Given the description of an element on the screen output the (x, y) to click on. 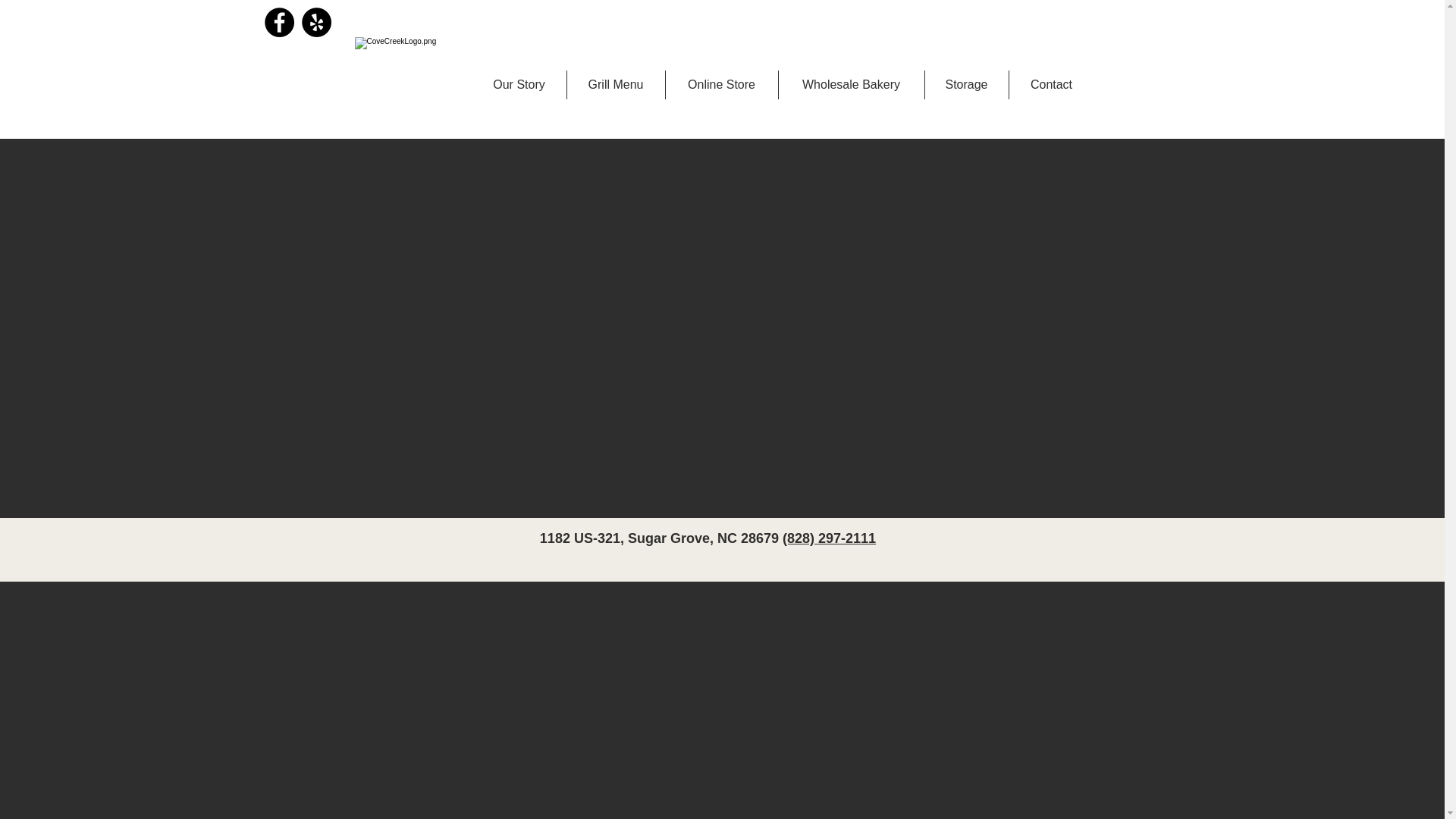
Storage (966, 84)
Wholesale Bakery (850, 84)
Online Store (721, 84)
Our Story (518, 84)
Grill Menu (616, 84)
Contact (1051, 84)
